Given the description of an element on the screen output the (x, y) to click on. 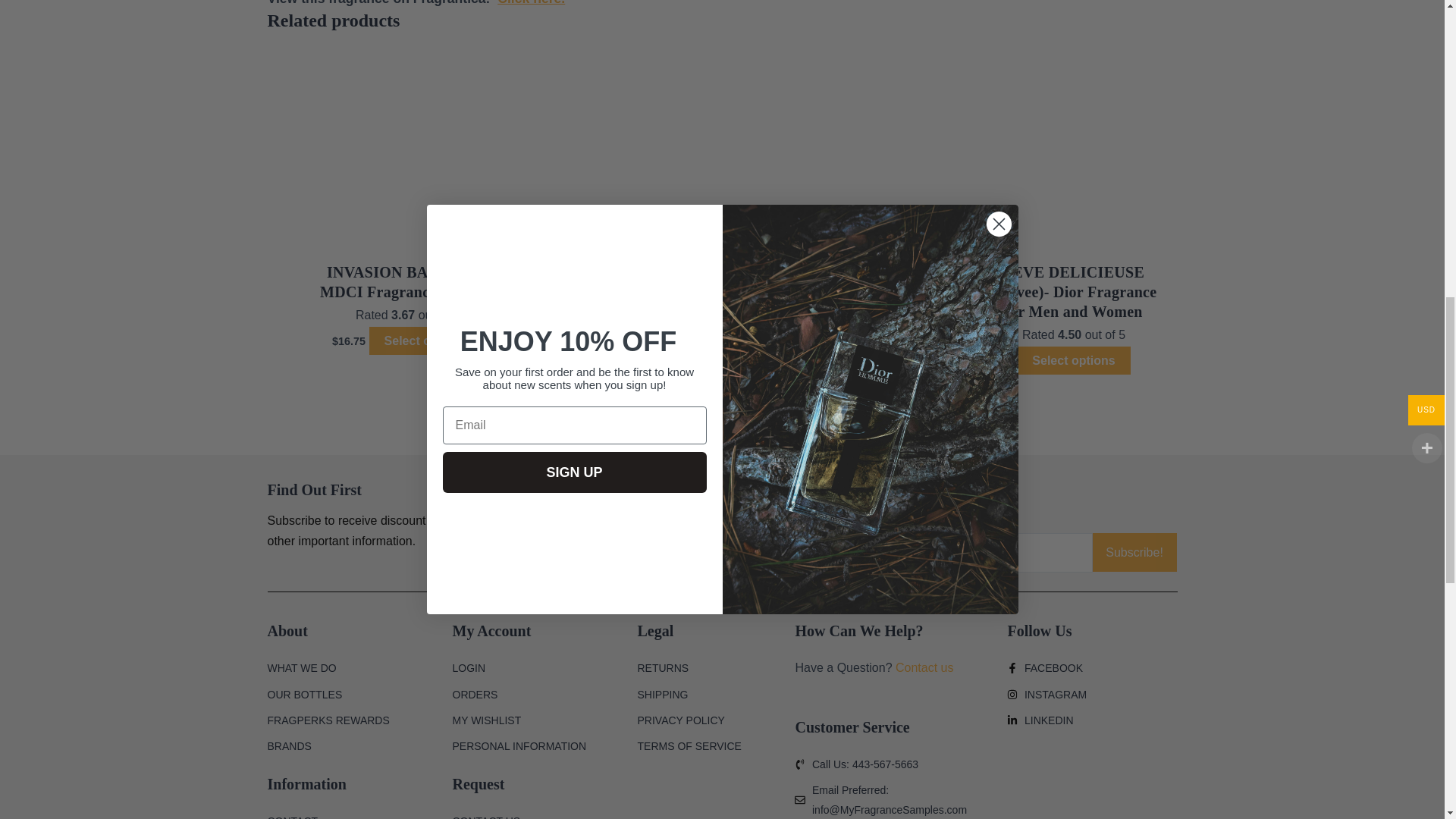
Subscribe! (1134, 552)
Enter Your Email Address (907, 552)
